Given the description of an element on the screen output the (x, y) to click on. 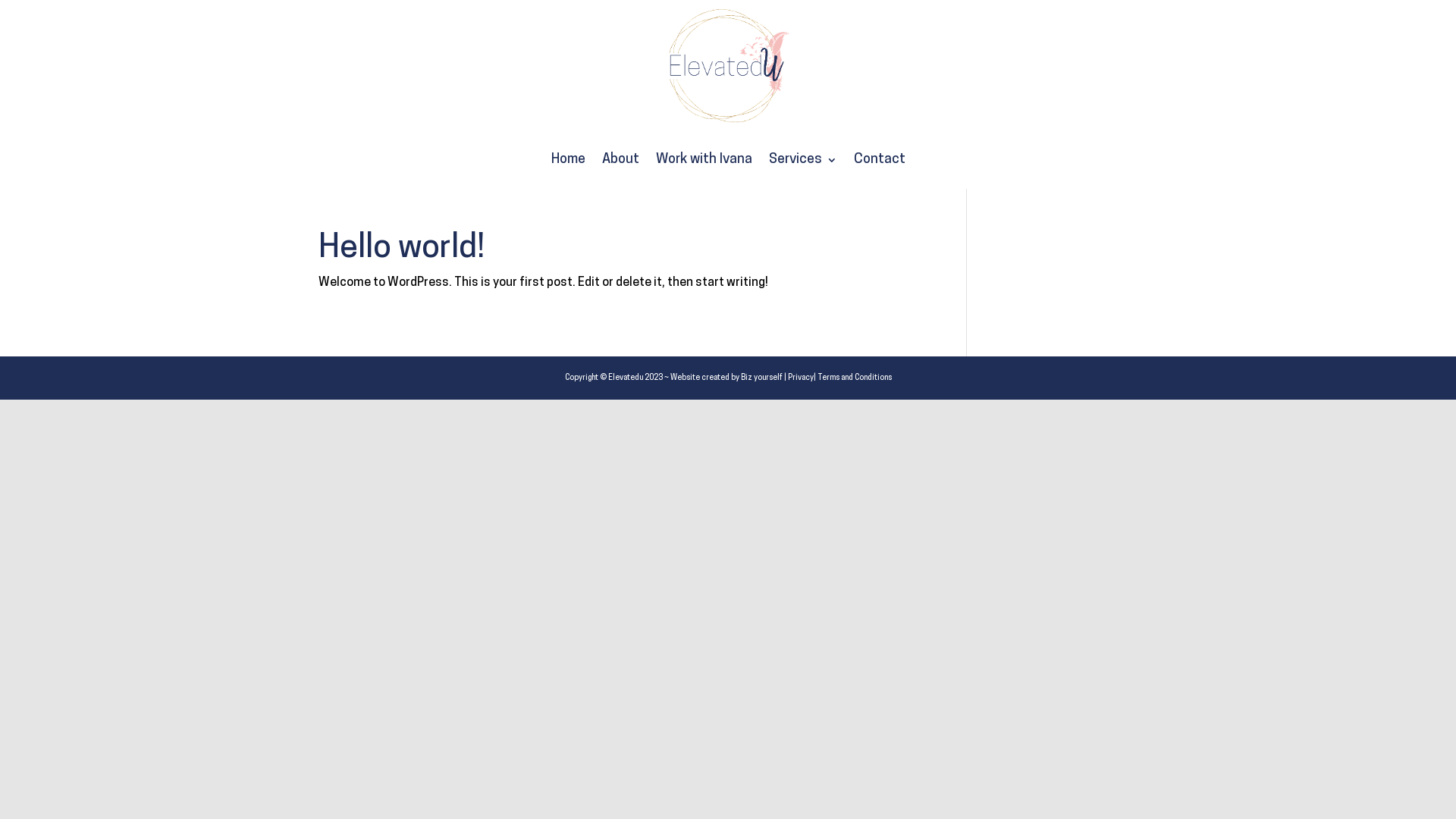
Terms and Conditions Element type: text (854, 377)
Home Element type: text (567, 159)
Services Element type: text (802, 159)
Biz yourself Element type: text (760, 377)
Work with Ivana Element type: text (703, 159)
Privacy Element type: text (799, 377)
Contact Element type: text (879, 159)
Hello world! Element type: text (401, 248)
About Element type: text (620, 159)
